Given the description of an element on the screen output the (x, y) to click on. 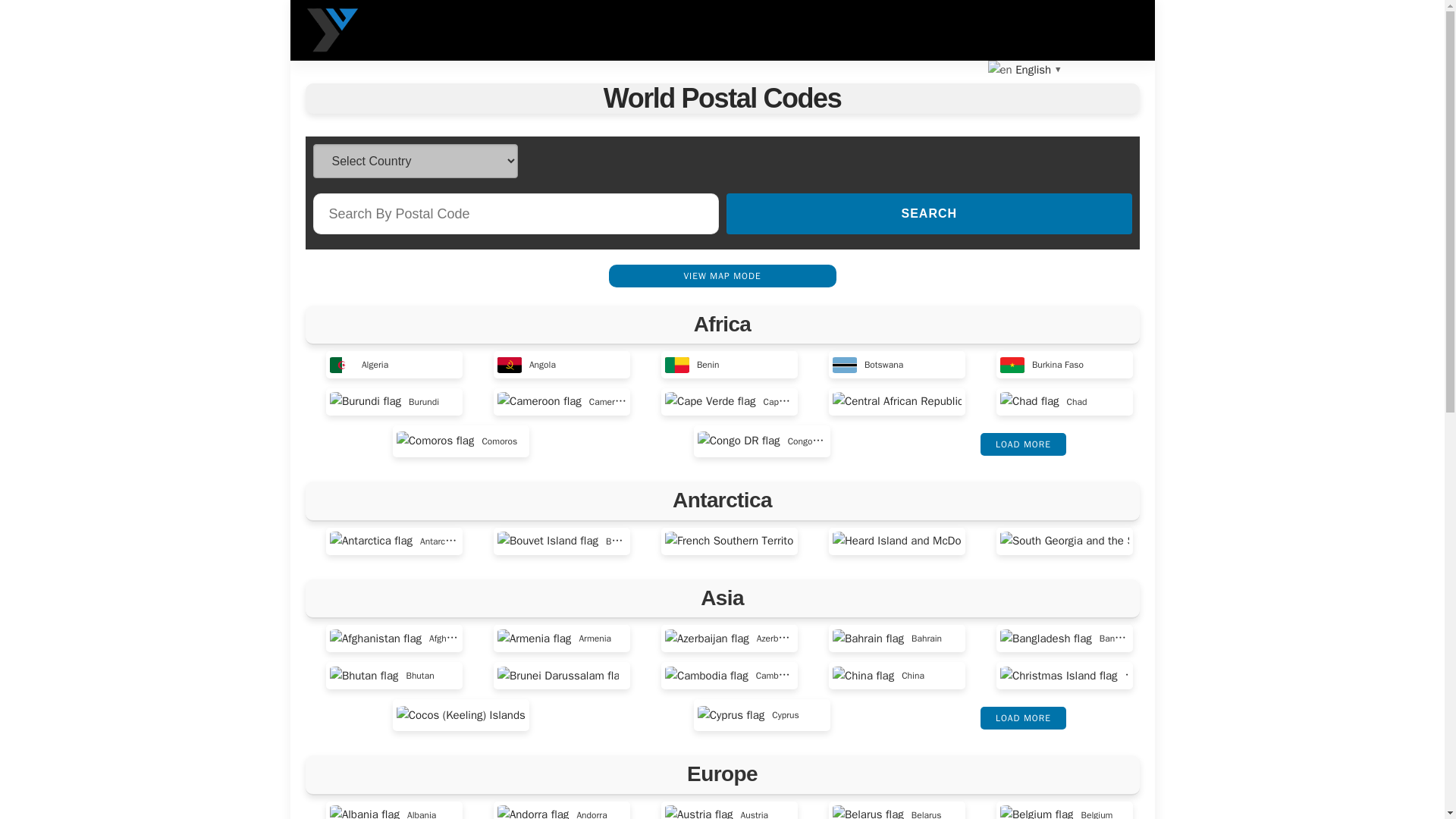
Yours Truly (331, 30)
